Given the description of an element on the screen output the (x, y) to click on. 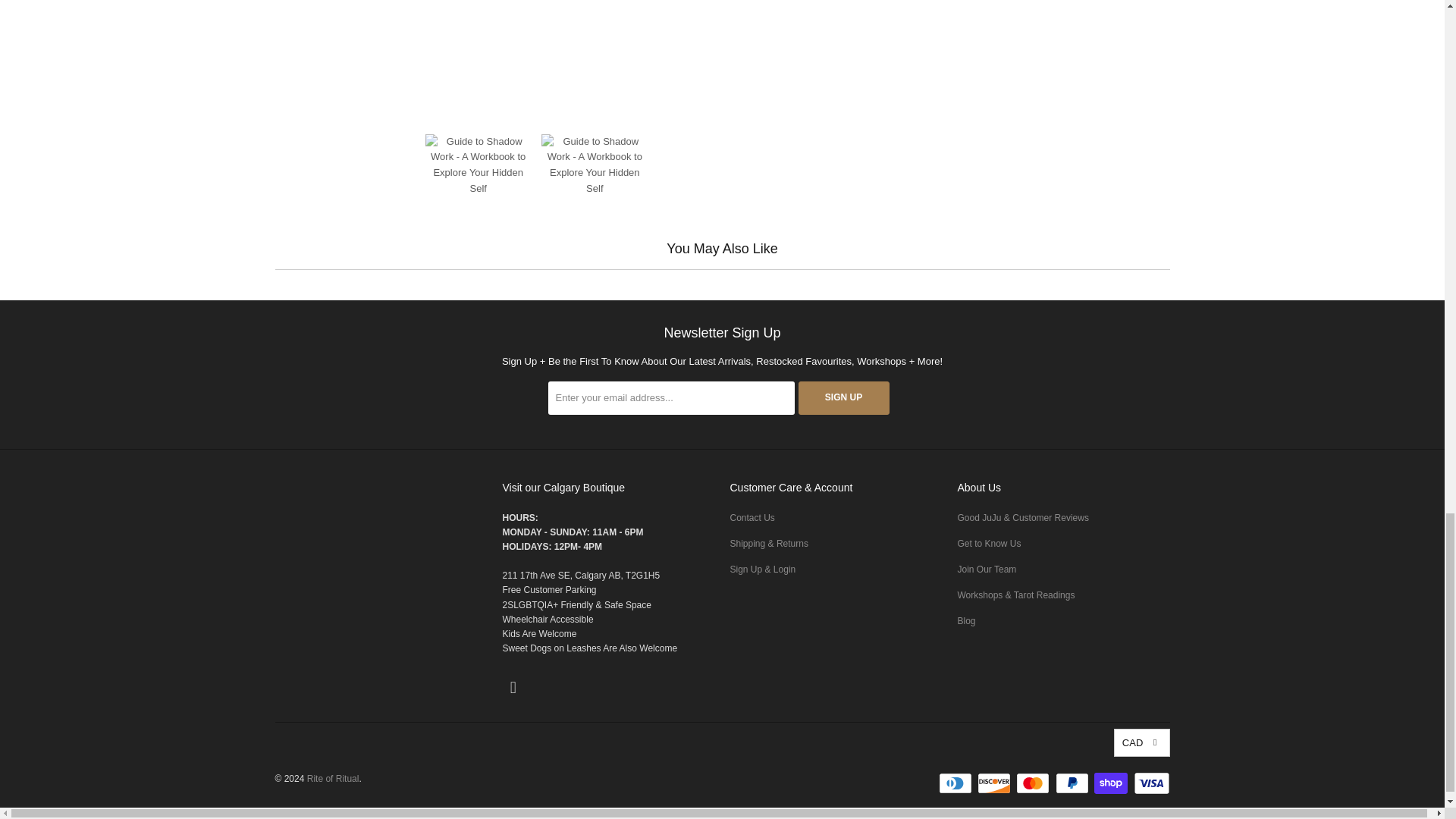
Visa (1150, 783)
Rite of Ritual on Instagram (513, 687)
Discover (994, 783)
Mastercard (1034, 783)
Diners Club (957, 783)
Sign Up (842, 397)
PayPal (1073, 783)
Shop Pay (1112, 783)
